Given the description of an element on the screen output the (x, y) to click on. 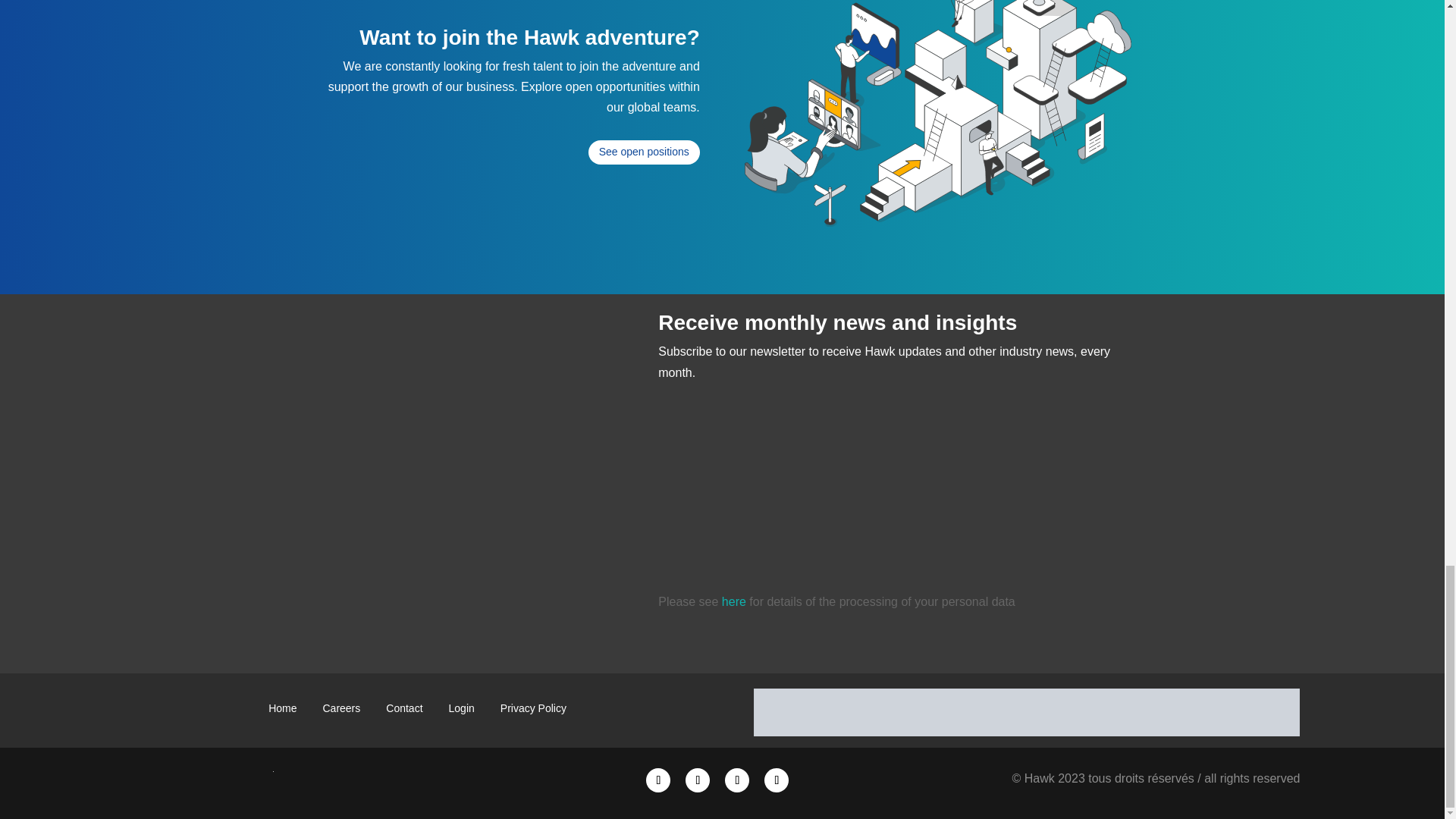
Home (282, 711)
Follow on X (697, 780)
Careers (341, 711)
See open positions (644, 152)
Follow on Youtube (737, 780)
Follow on LinkedIn (657, 780)
Follow on Facebook (776, 780)
associations (1027, 712)
here (733, 601)
Contact (403, 711)
Login (461, 711)
Privacy Policy (533, 711)
